Given the description of an element on the screen output the (x, y) to click on. 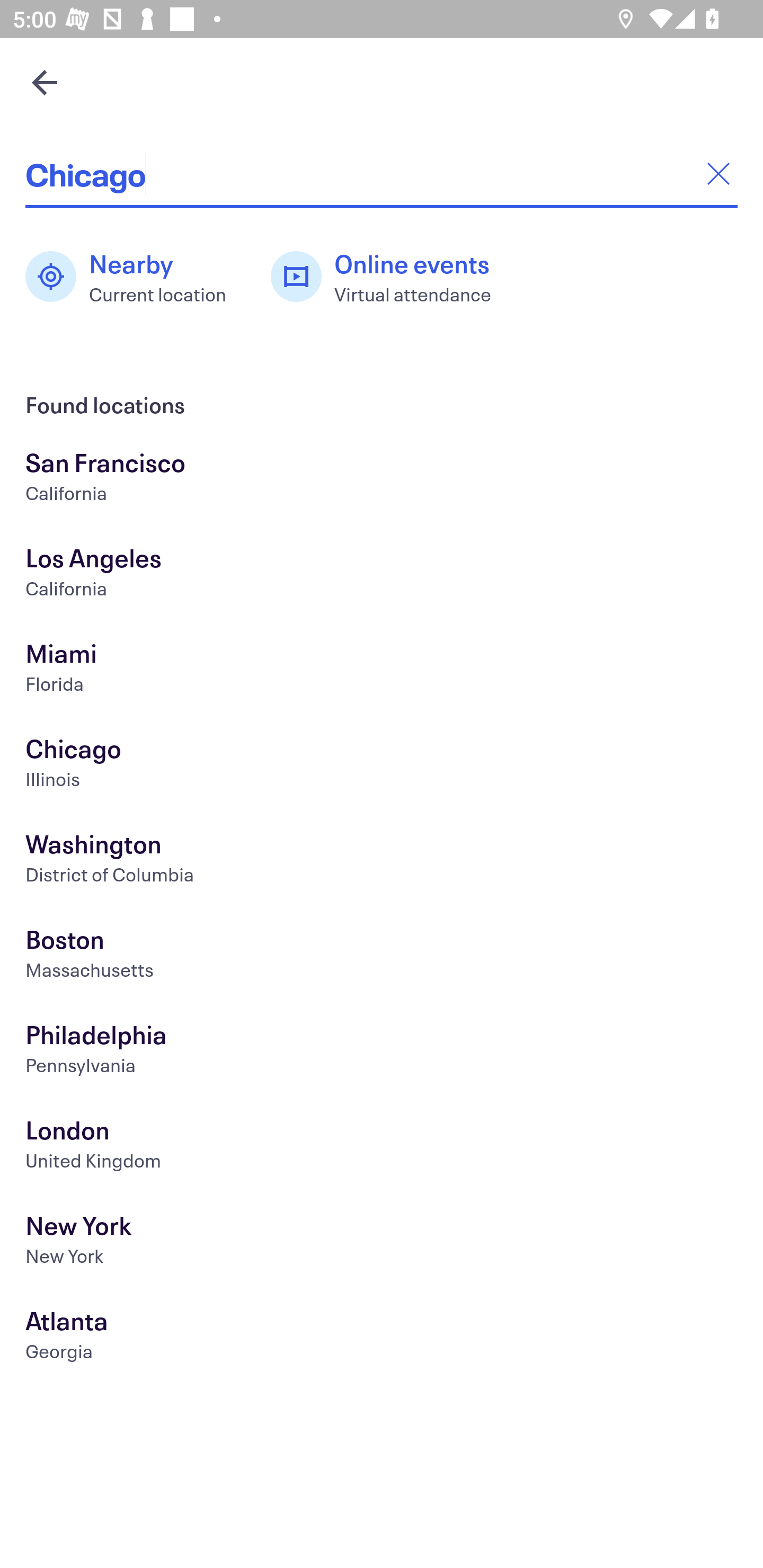
Navigate up (44, 82)
Chicago (381, 173)
Nearby Current location (135, 276)
Online events Virtual attendance (390, 276)
San Francisco California (381, 479)
Los Angeles California (381, 574)
Miami Florida (381, 670)
Chicago Illinois (381, 765)
Washington District of Columbia (381, 861)
Boston Massachusetts (381, 955)
Philadelphia Pennsylvania (381, 1051)
London United Kingdom (381, 1146)
New York (381, 1242)
Atlanta Georgia (381, 1338)
